Given the description of an element on the screen output the (x, y) to click on. 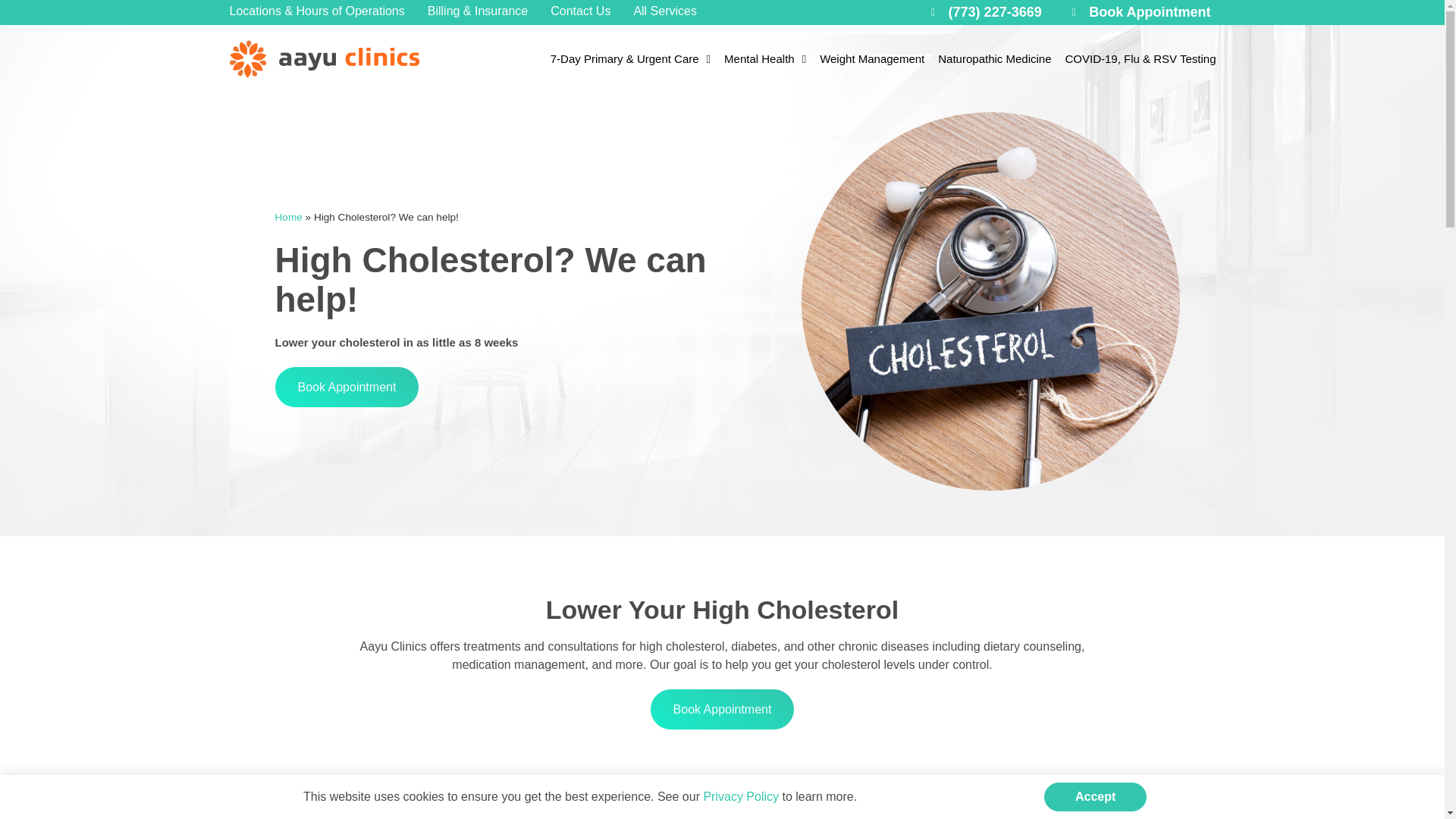
Contact Us (580, 11)
Book Appointment (1141, 12)
Naturopathic Medicine (994, 58)
Mental Health (764, 58)
Weight Management (871, 58)
All Services (665, 11)
